Given the description of an element on the screen output the (x, y) to click on. 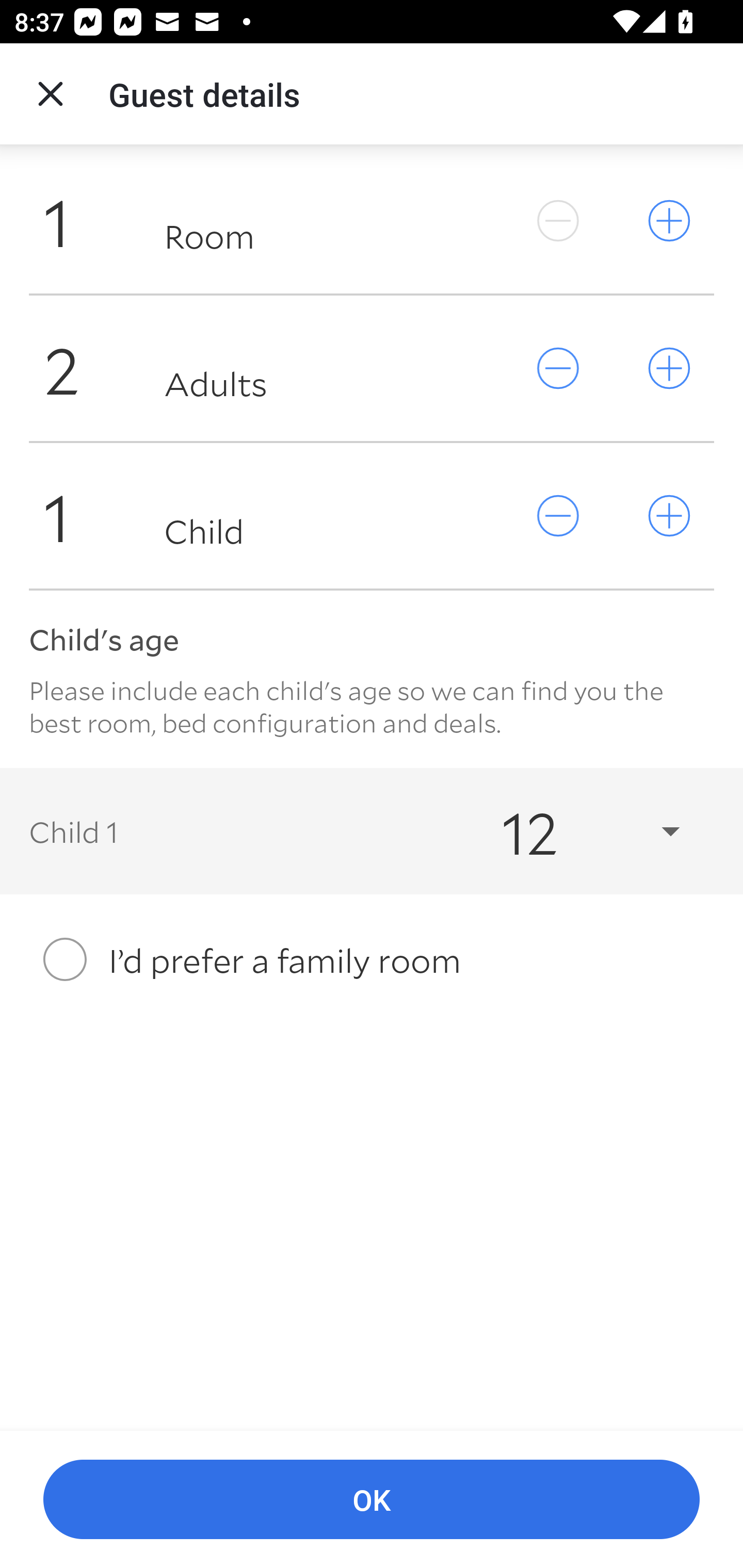
12 (573, 830)
I’d prefer a family room (371, 959)
OK (371, 1499)
